Given the description of an element on the screen output the (x, y) to click on. 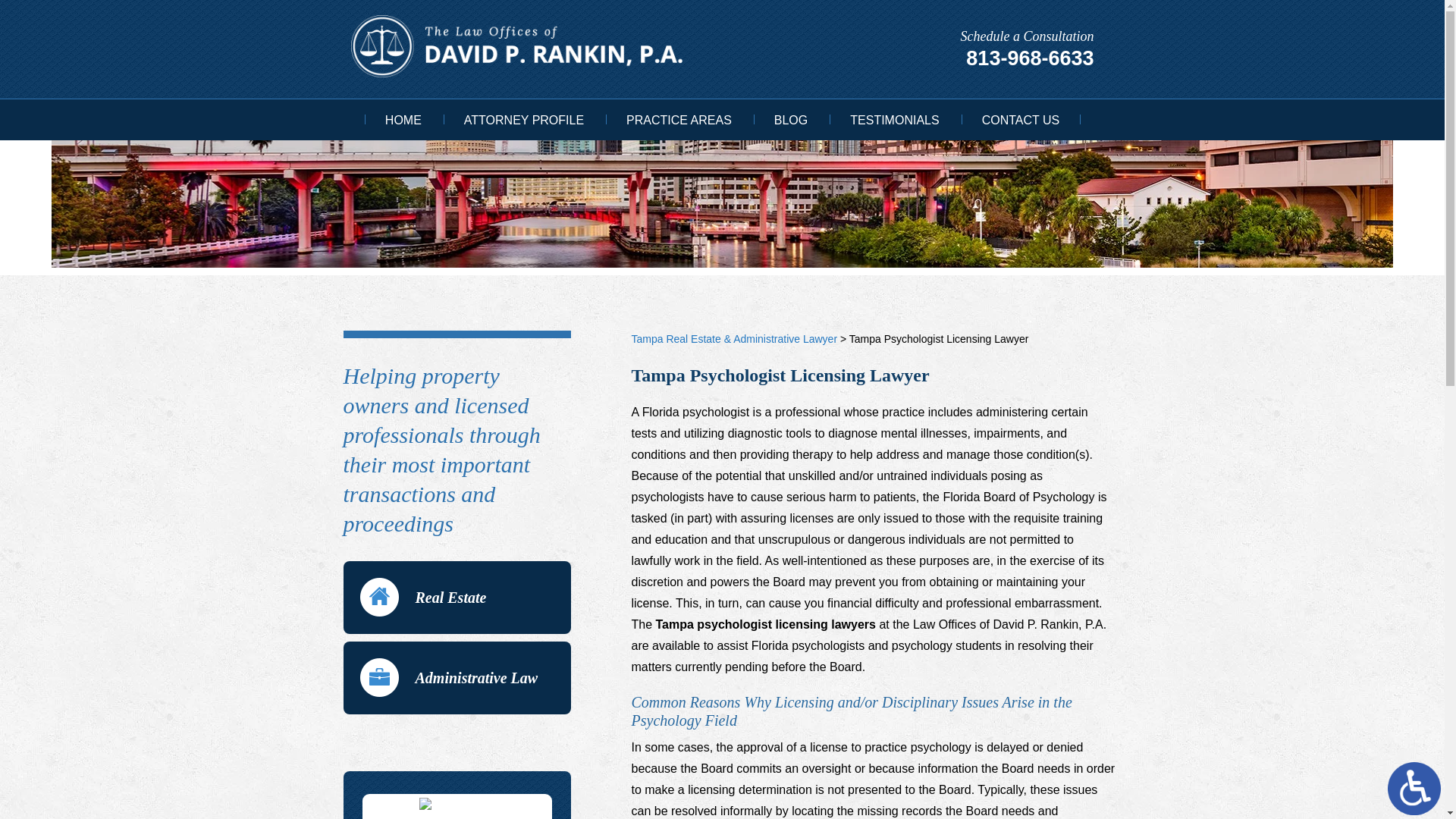
Real Estate (456, 597)
TESTIMONIALS (893, 120)
PRACTICE AREAS (678, 120)
BLOG (790, 120)
ATTORNEY PROFILE (522, 120)
HOME (403, 120)
813-968-6633 (1029, 57)
CONTACT US (1021, 120)
Administrative Law (456, 677)
